Given the description of an element on the screen output the (x, y) to click on. 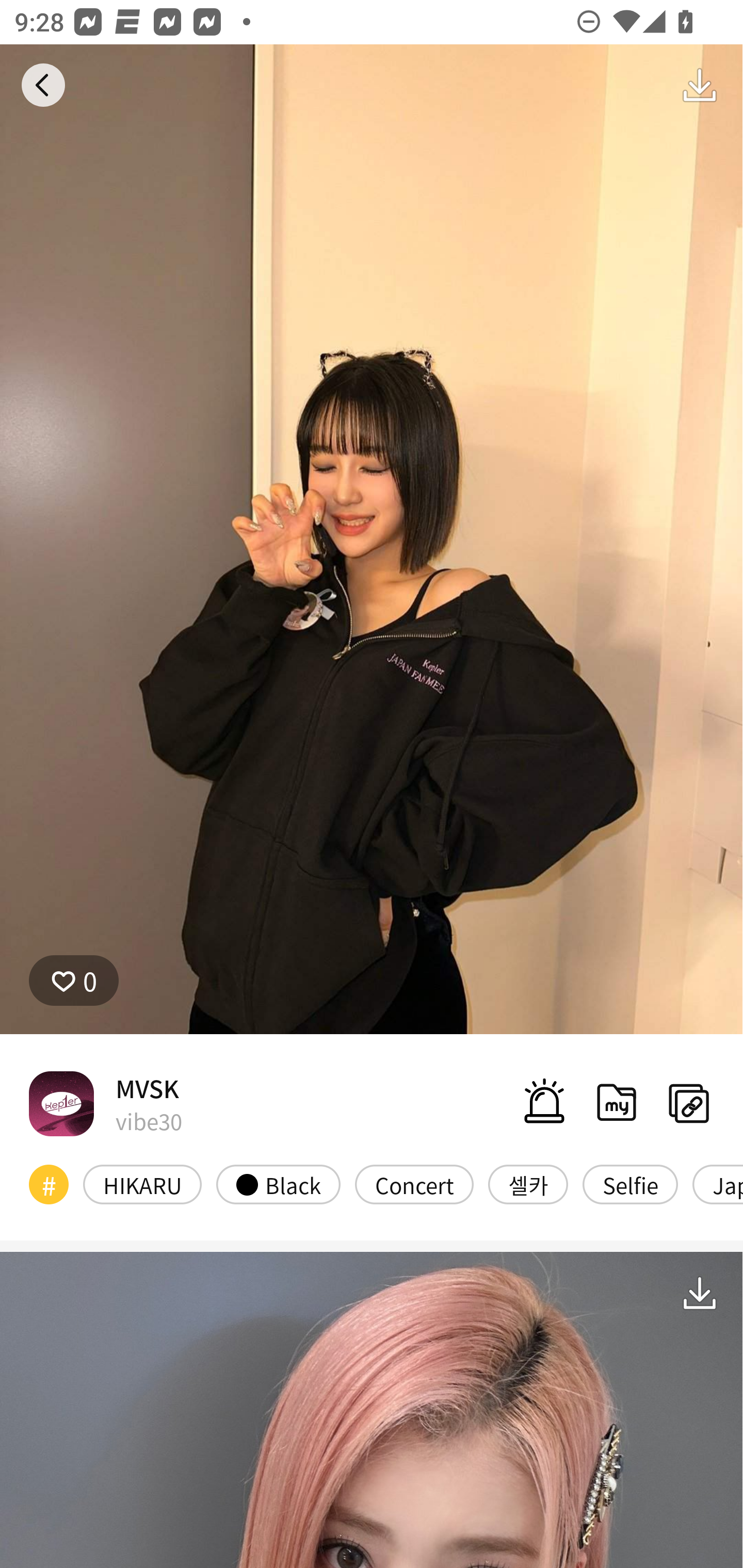
0 (73, 980)
MVSK vibe30 (105, 1102)
HIKARU (142, 1184)
Black (278, 1184)
Concert (414, 1184)
셀카 (528, 1184)
Selfie (629, 1184)
